Given the description of an element on the screen output the (x, y) to click on. 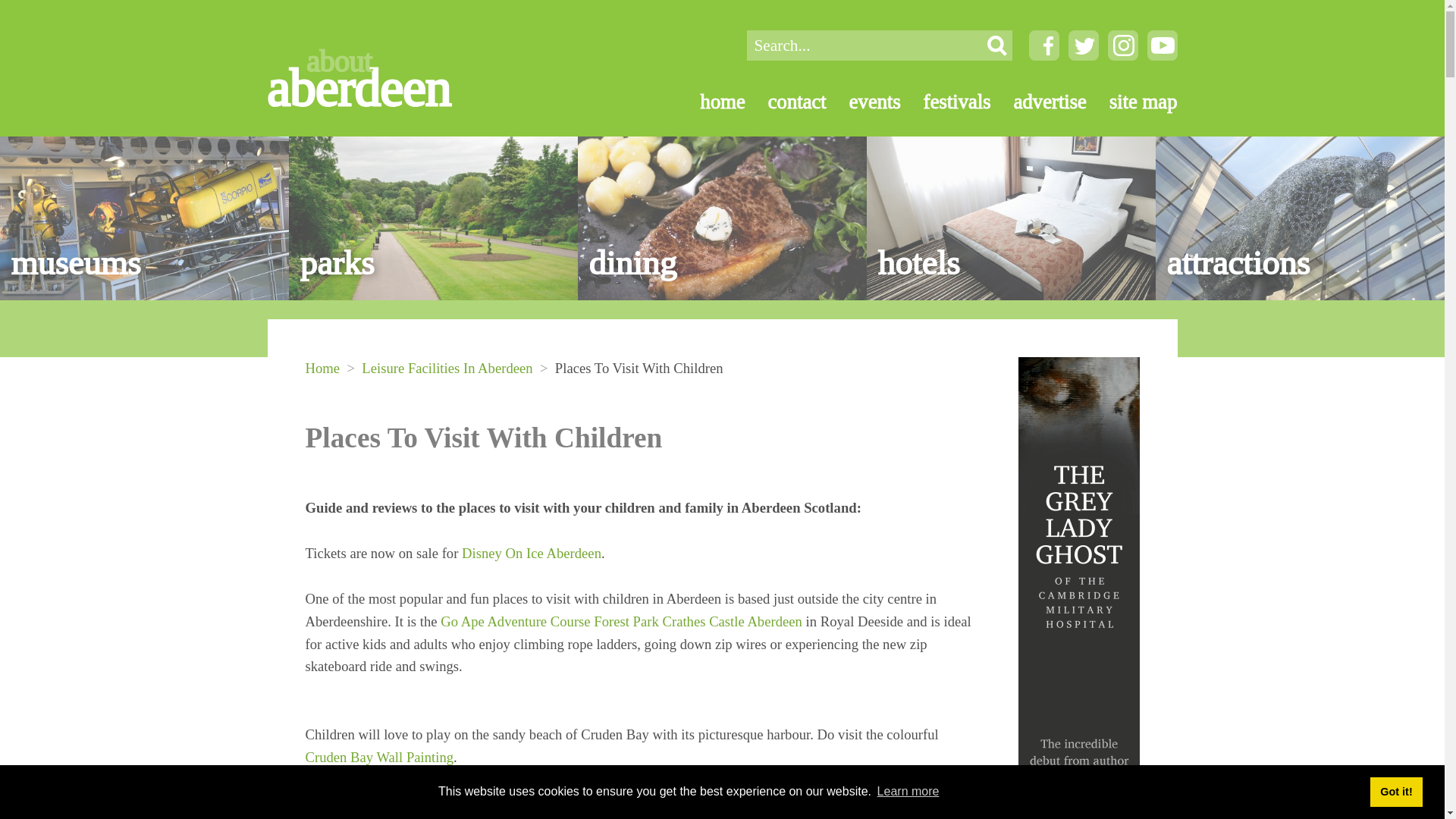
Leisure Facilities In Aberdeen (446, 367)
Home (321, 367)
Go Ape Adventure Course Forest Park Crathes Castle Aberdeen (621, 621)
museums (144, 218)
advertise (1038, 101)
home (711, 101)
Cruden Bay Wall Painting (380, 71)
festivals (378, 756)
parks (946, 101)
Got it! (433, 218)
Search... (1396, 791)
Disney On Ice Aberdeen (863, 45)
dining (531, 553)
Search... (722, 218)
